Given the description of an element on the screen output the (x, y) to click on. 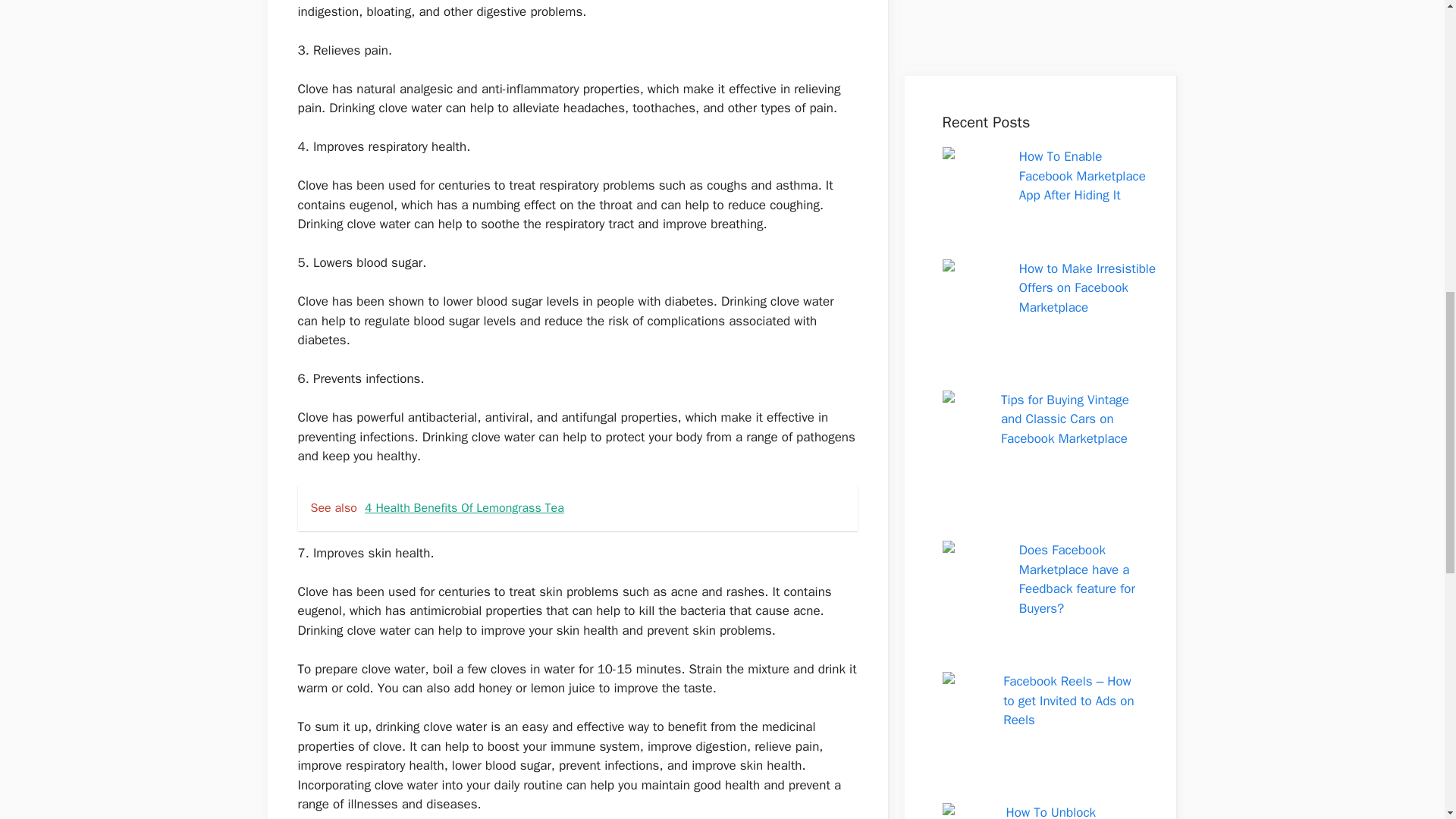
See also  4 Health Benefits Of Lemongrass Tea (577, 507)
How To Unblock Someone On Instagram (1072, 10)
